Given the description of an element on the screen output the (x, y) to click on. 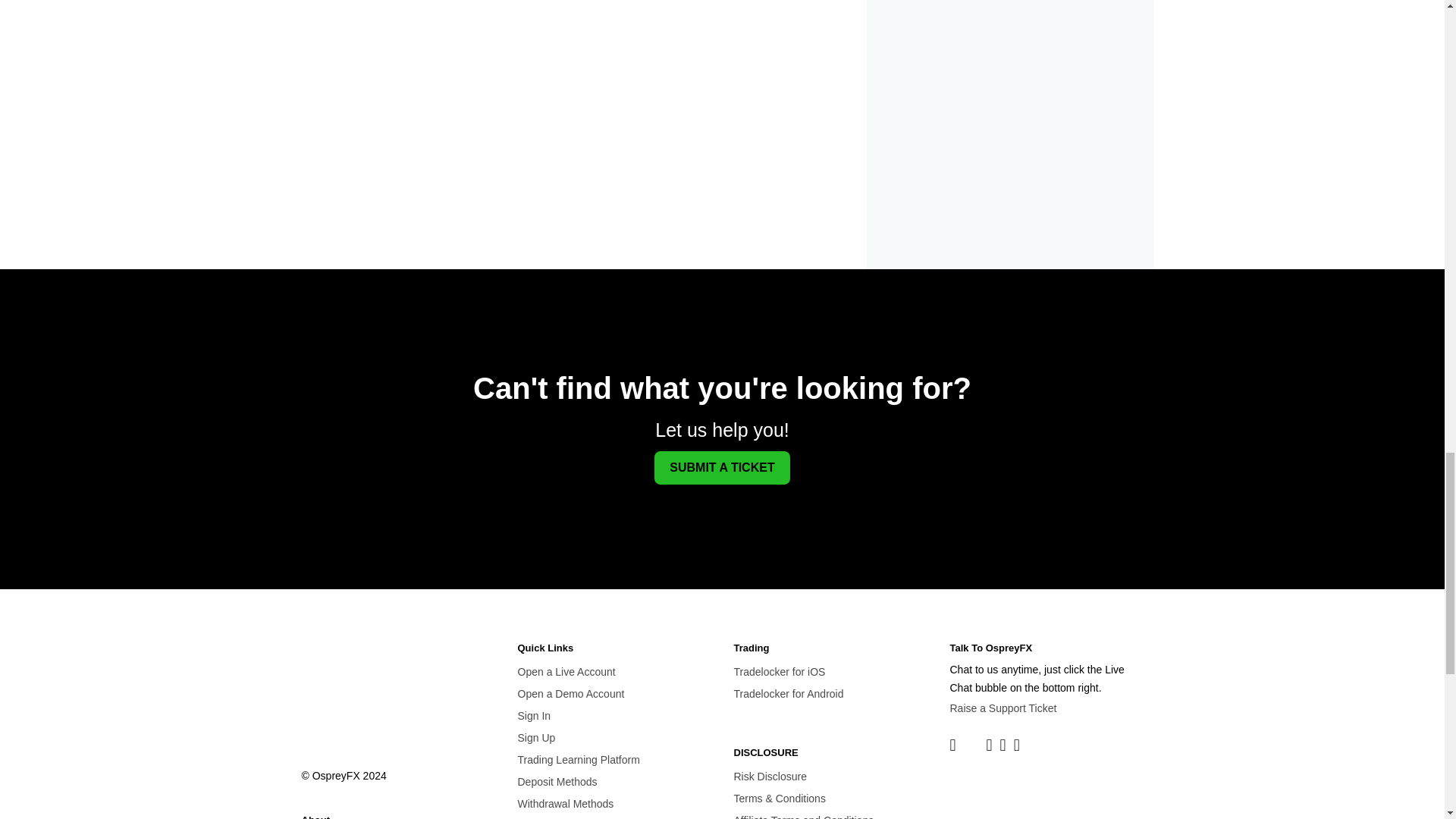
Twitter (970, 743)
